Given the description of an element on the screen output the (x, y) to click on. 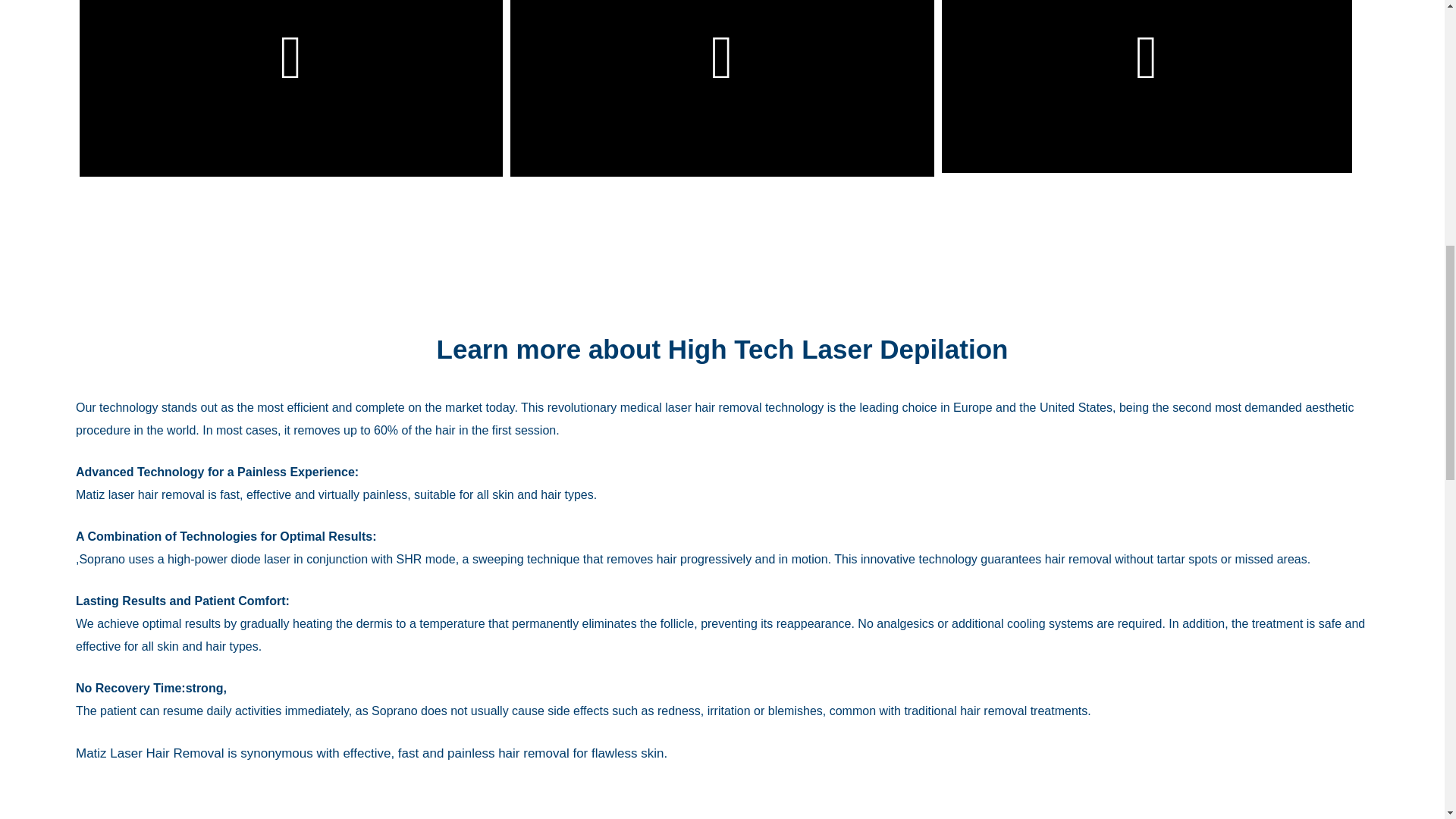
youtube Video Player (291, 88)
youtube Video Player (1147, 86)
youtube Video Player (722, 88)
